Given the description of an element on the screen output the (x, y) to click on. 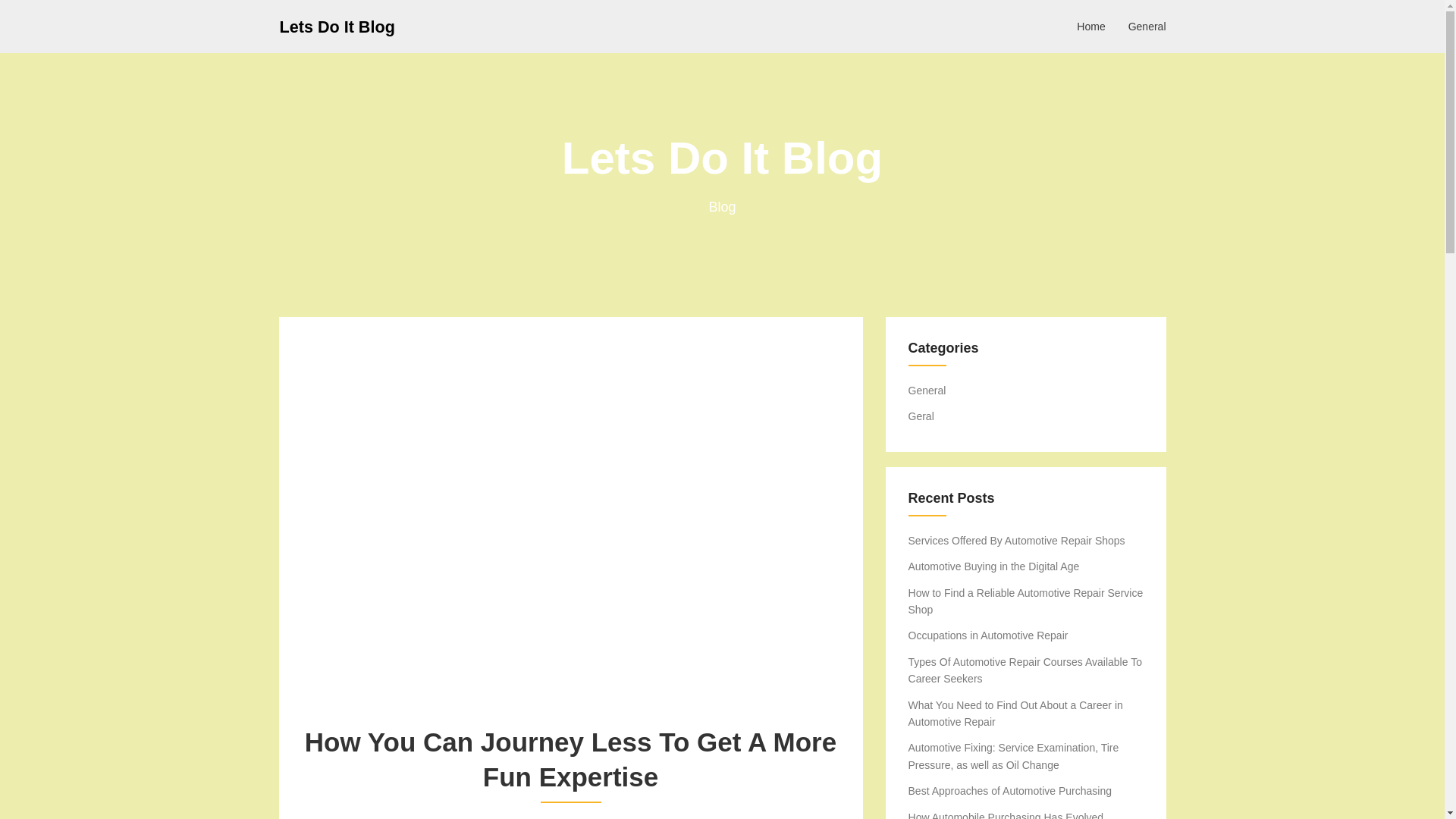
General (927, 389)
Home (1090, 26)
Automotive Buying in the Digital Age (994, 566)
General (1146, 26)
Occupations in Automotive Repair (988, 635)
Best Approaches of Automotive Purchasing (1010, 790)
Geral (921, 416)
How Automobile Purchasing Has Evolved (1005, 815)
